Given the description of an element on the screen output the (x, y) to click on. 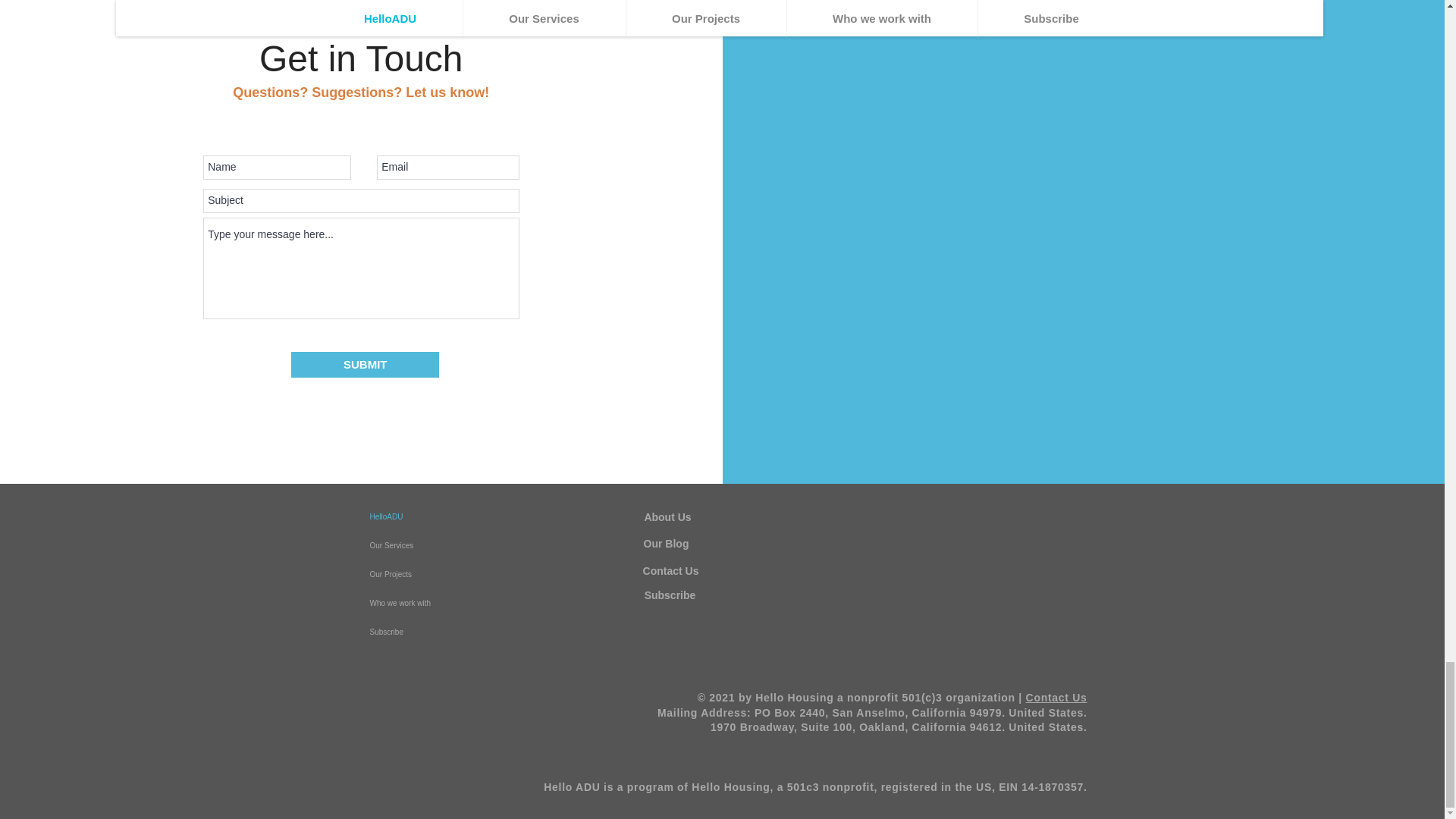
Subscribe (439, 632)
HelloADU (439, 516)
Our Services (439, 545)
SUBMIT (365, 364)
Our Projects (439, 574)
